Given the description of an element on the screen output the (x, y) to click on. 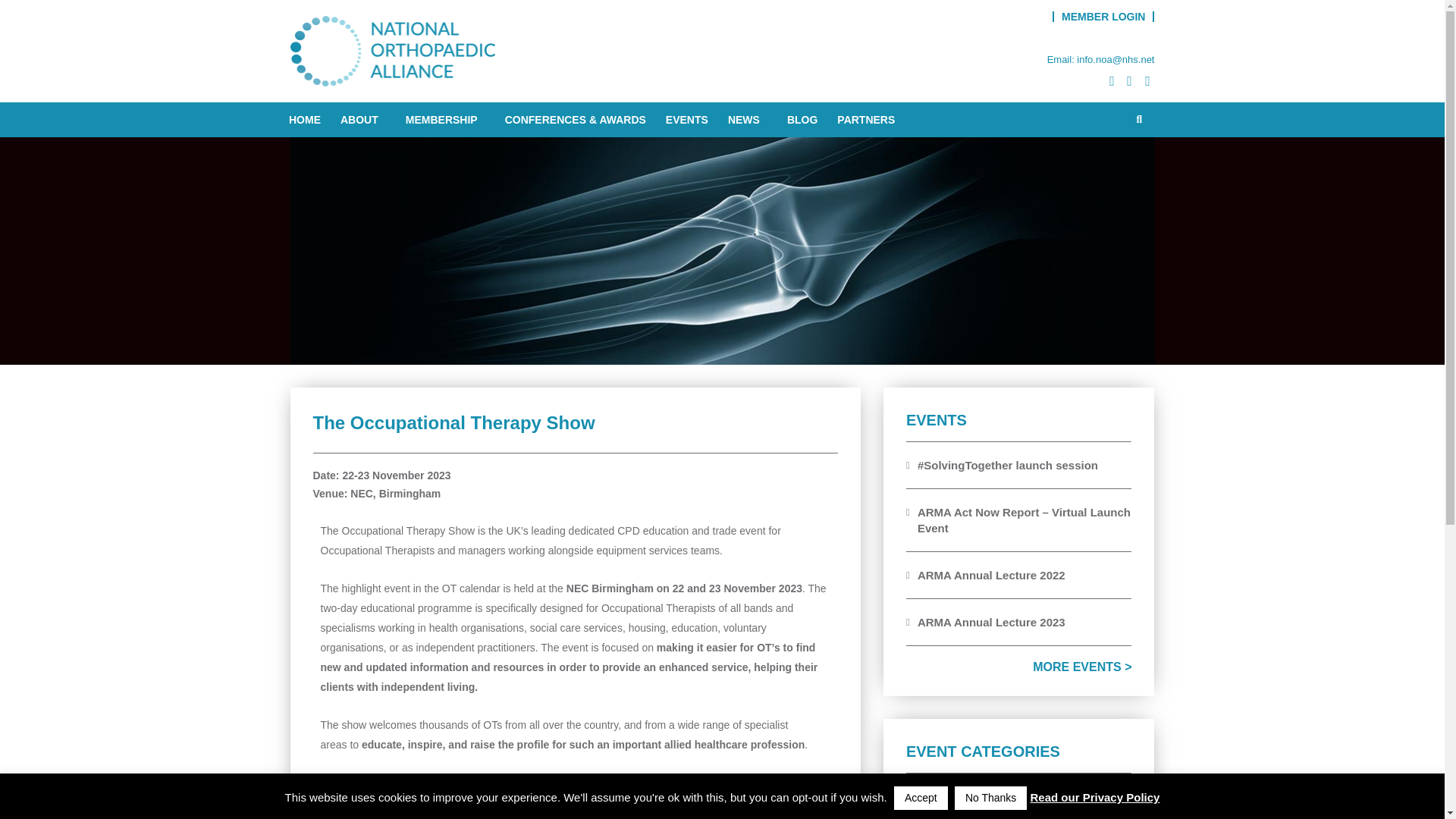
ABOUT (362, 119)
MEMBER LOGIN (1103, 16)
MEMBERSHIP (445, 119)
EVENTS (686, 119)
PARTNERS (866, 119)
HOME (304, 119)
NEWS (747, 119)
